Given the description of an element on the screen output the (x, y) to click on. 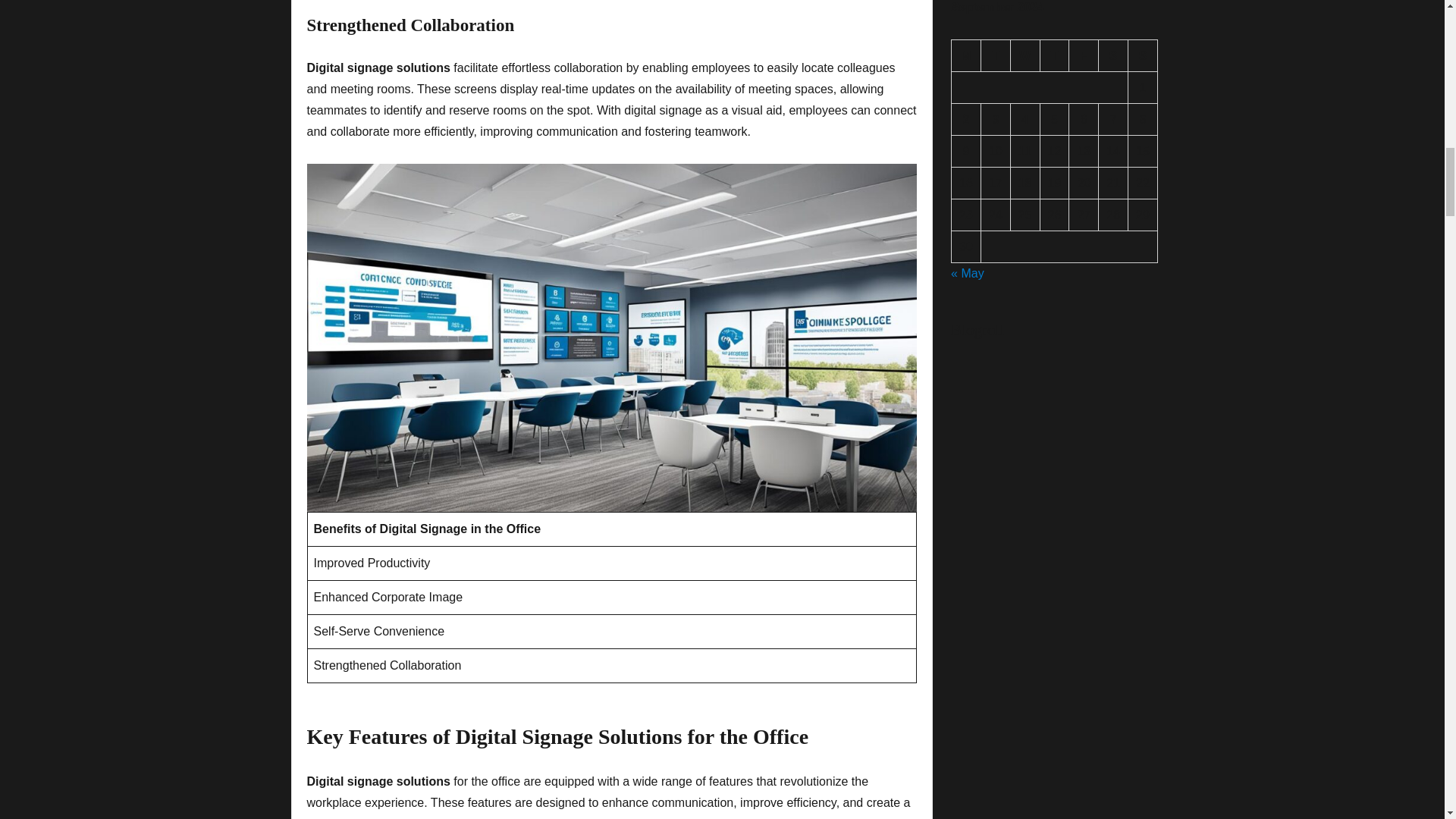
Friday (1083, 56)
Monday (966, 56)
Wednesday (1025, 56)
Thursday (1055, 56)
Tuesday (995, 56)
Saturday (1113, 56)
Sunday (1142, 56)
